Given the description of an element on the screen output the (x, y) to click on. 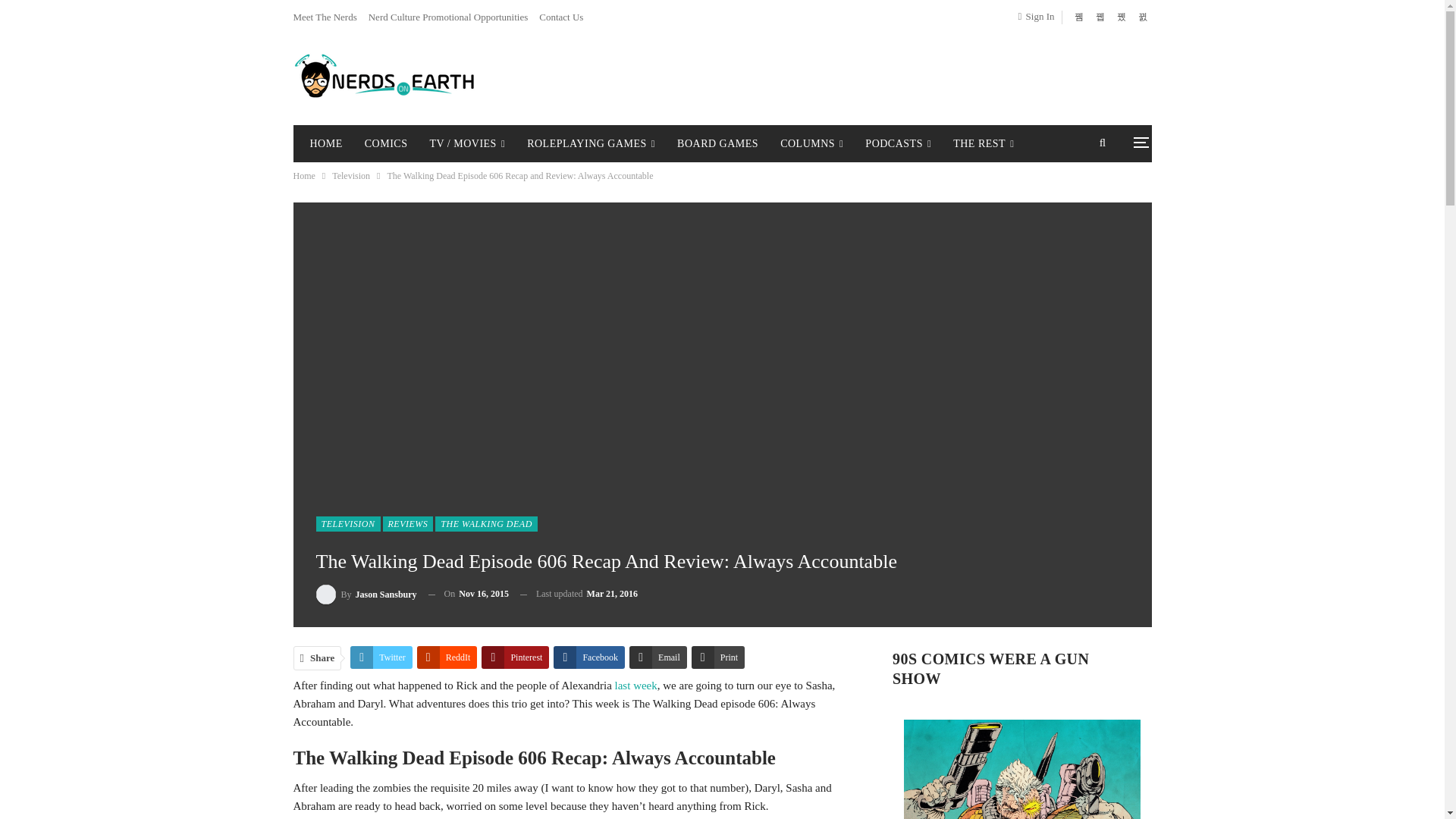
Contact Us (560, 16)
Nerd Culture Promotional Opportunities (448, 16)
BOARD GAMES (717, 144)
COMICS (385, 144)
COLUMNS (811, 144)
ROLEPLAYING GAMES (590, 144)
PODCASTS (898, 144)
Sign In (1039, 16)
Meet The Nerds (324, 16)
3rd party ad content (866, 75)
